Given the description of an element on the screen output the (x, y) to click on. 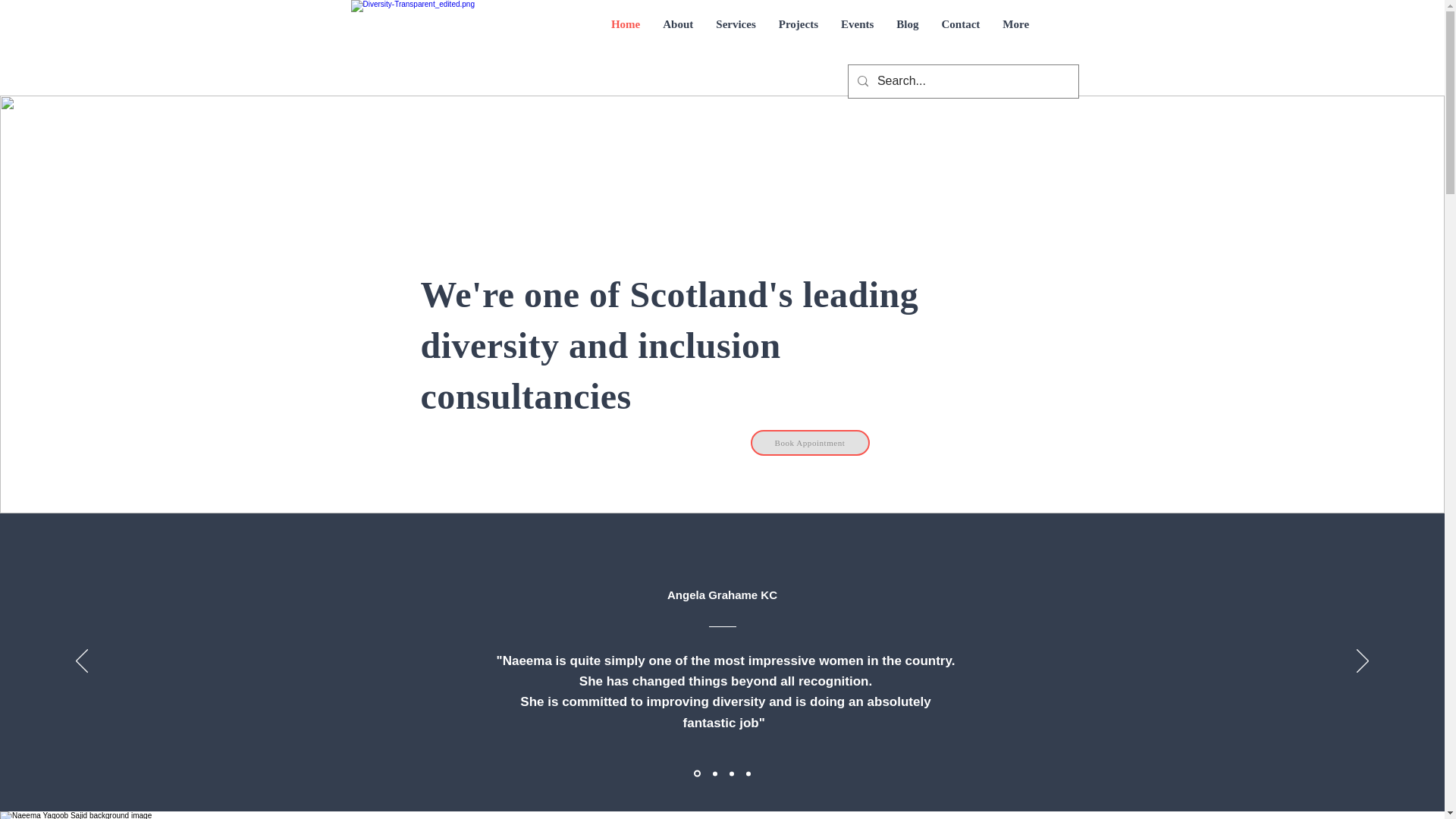
Book Appointment (810, 442)
About (677, 35)
Blog (907, 35)
Events (857, 35)
Services (735, 35)
Contact (960, 35)
Projects (798, 35)
Home (624, 35)
